Given the description of an element on the screen output the (x, y) to click on. 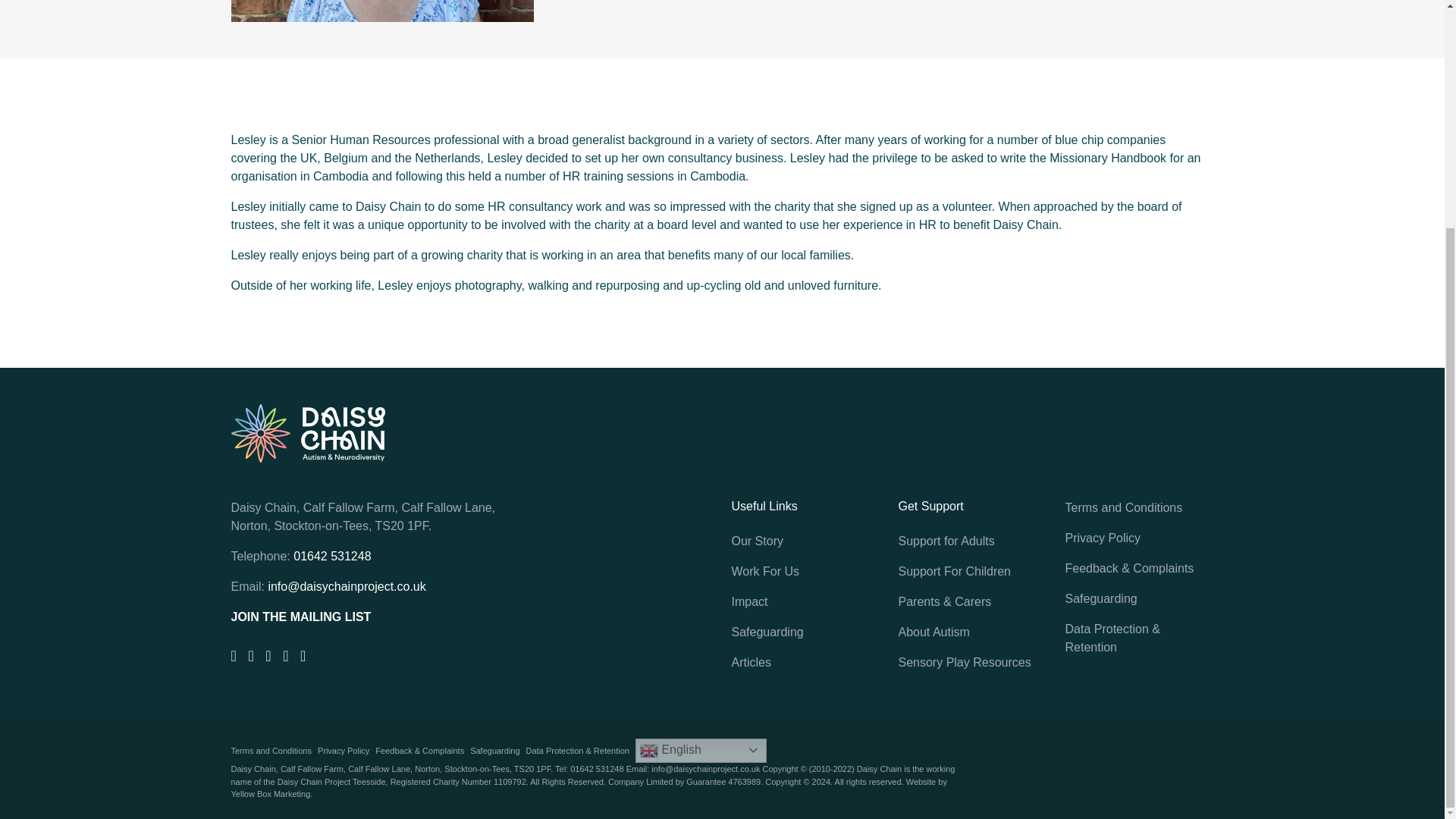
Privacy Policy (343, 750)
Safeguarding (494, 750)
Terms and Conditions (270, 750)
